Given the description of an element on the screen output the (x, y) to click on. 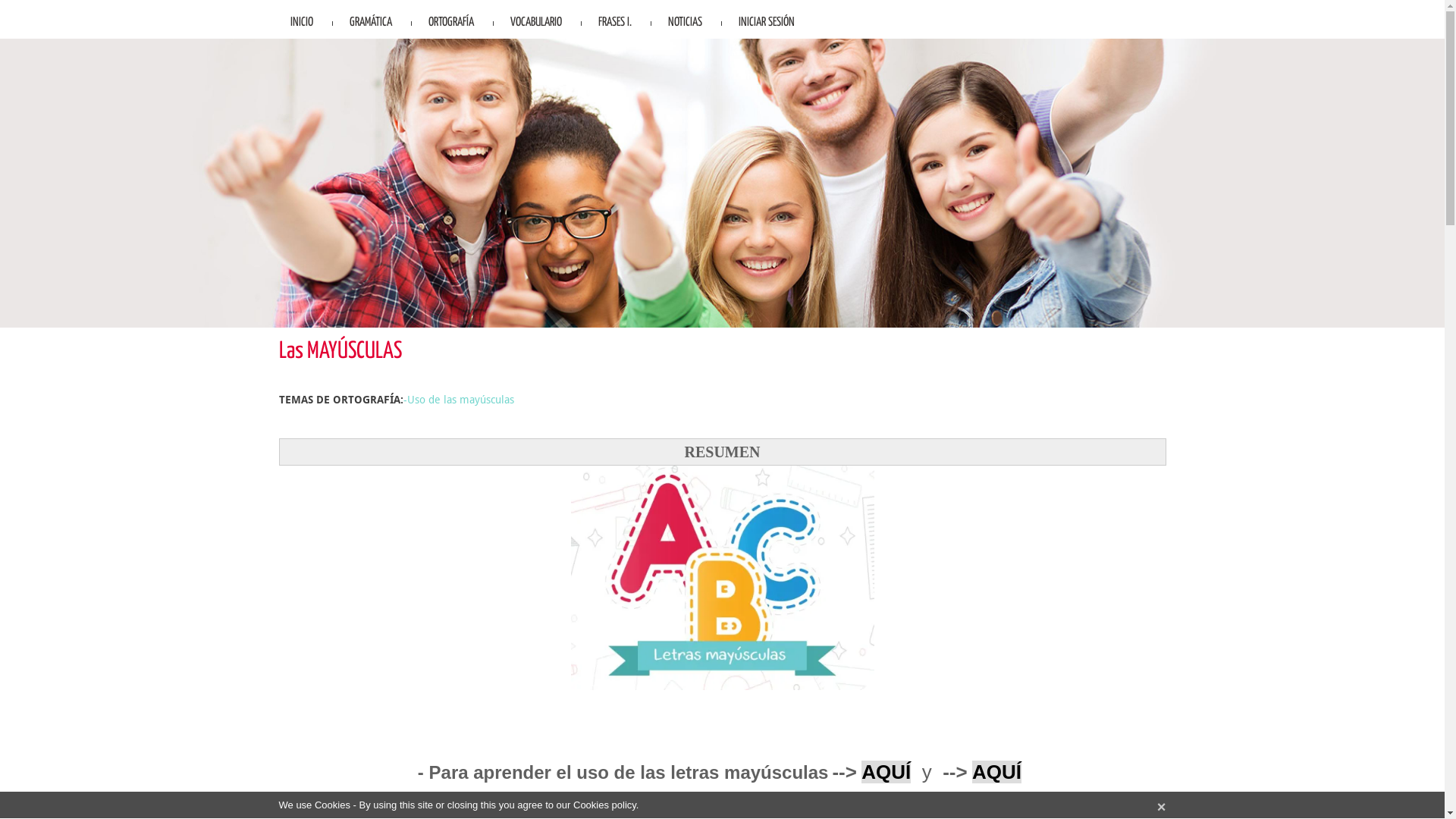
Pasar al contenido principal Element type: text (66, 0)
FRASES I. Element type: text (614, 19)
VOCABULARIO Element type: text (535, 19)
INICIO Element type: text (301, 19)
Skip to navigation Element type: text (42, 0)
NOTICIAS Element type: text (684, 19)
